Given the description of an element on the screen output the (x, y) to click on. 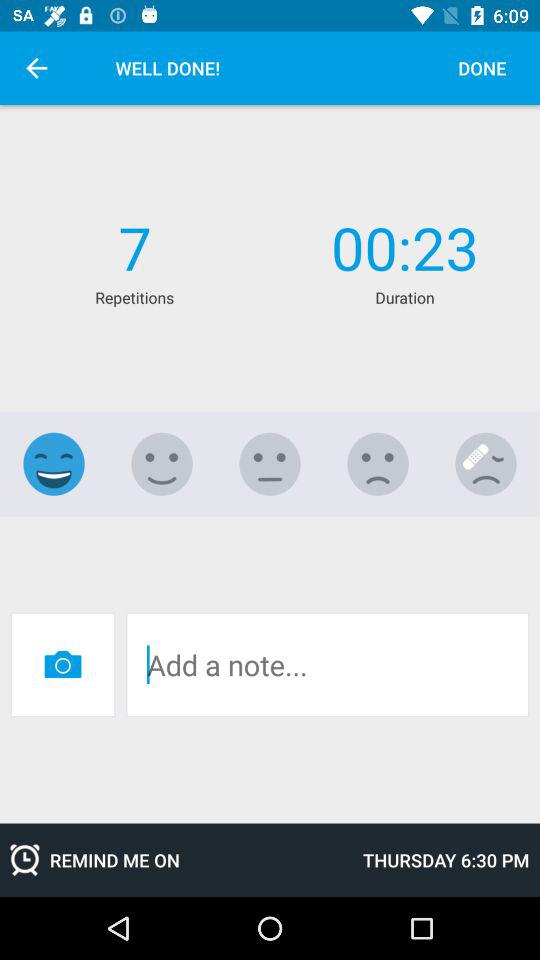
emogi (270, 463)
